Given the description of an element on the screen output the (x, y) to click on. 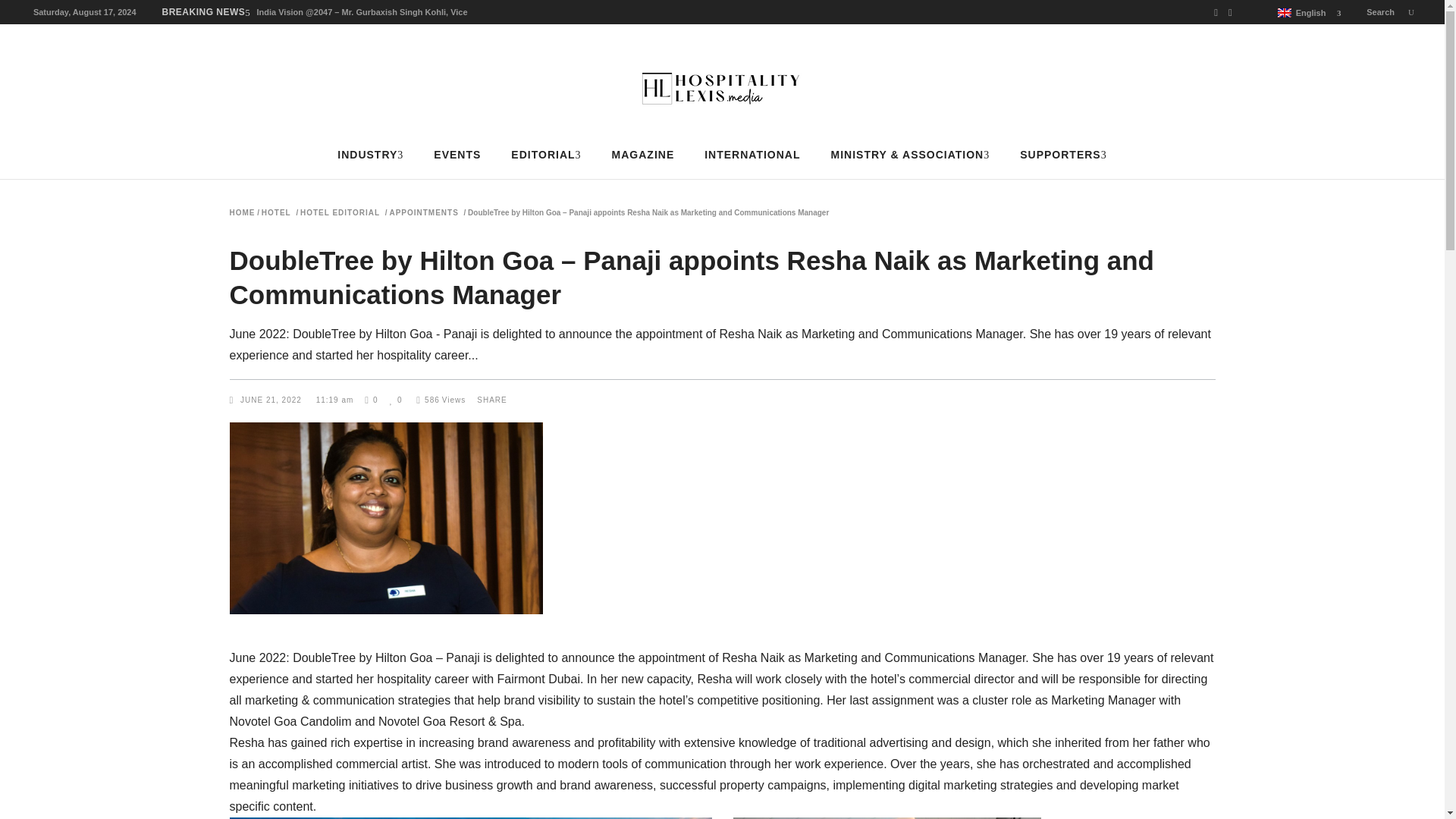
Search (1390, 11)
INTERNATIONAL (751, 154)
 English (1303, 12)
EVENTS (457, 154)
SUPPORTERS (1062, 154)
Like this (396, 399)
English (1284, 12)
MAGAZINE (643, 154)
INDUSTRY (370, 154)
EDITORIAL (545, 154)
